Given the description of an element on the screen output the (x, y) to click on. 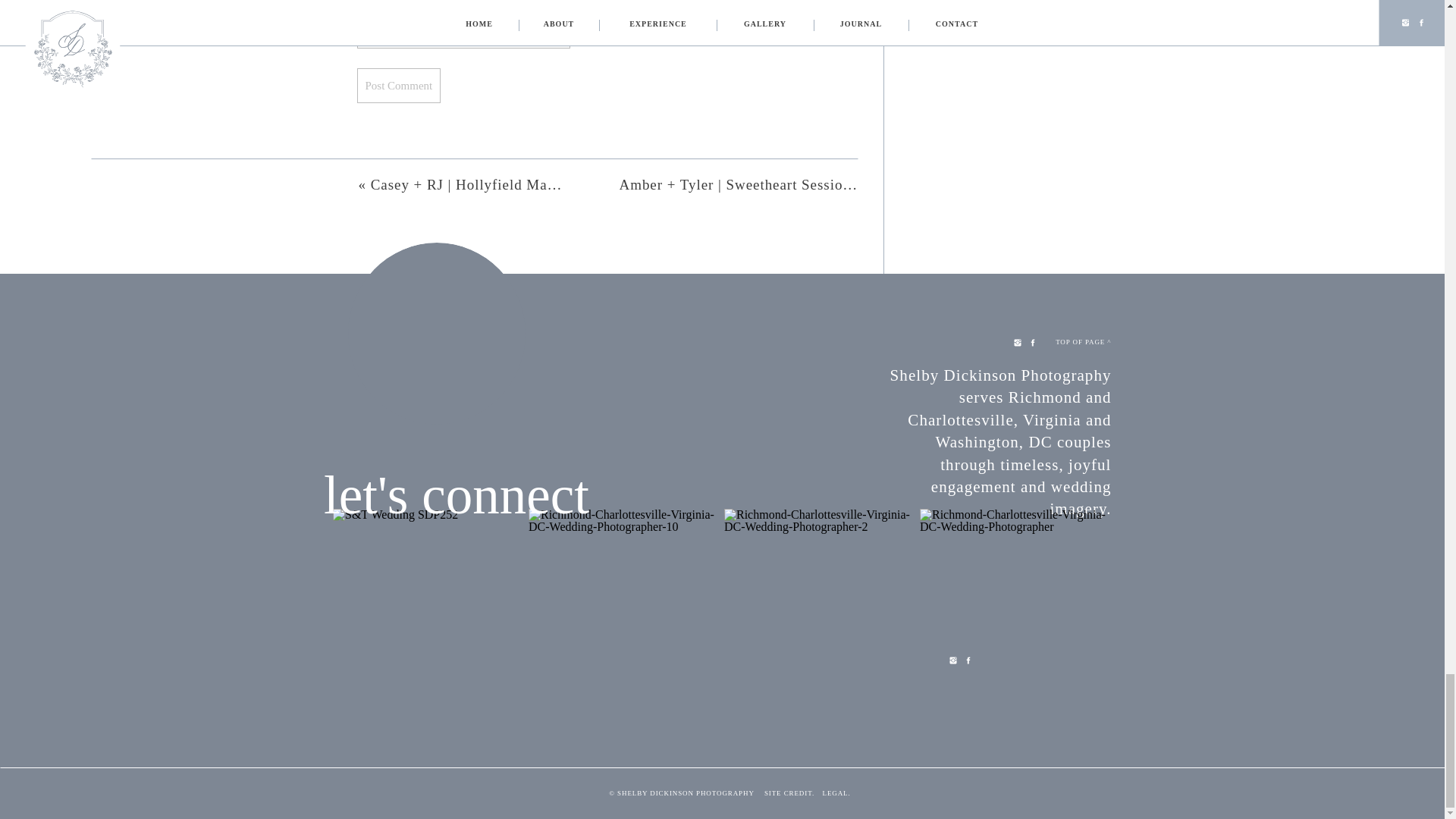
SITE CREDIT. (789, 794)
Richmond-Charlottesville-Virginia-DC-Wedding-Photographer-2 (819, 604)
Post Comment (398, 84)
Richmond-Charlottesville-Virginia-DC-Wedding-Photographer-10 (624, 604)
LEGAL. (832, 794)
Post Comment (398, 84)
Richmond-Charlottesville-Virginia-DC-Wedding-Photographer (1016, 604)
